Given the description of an element on the screen output the (x, y) to click on. 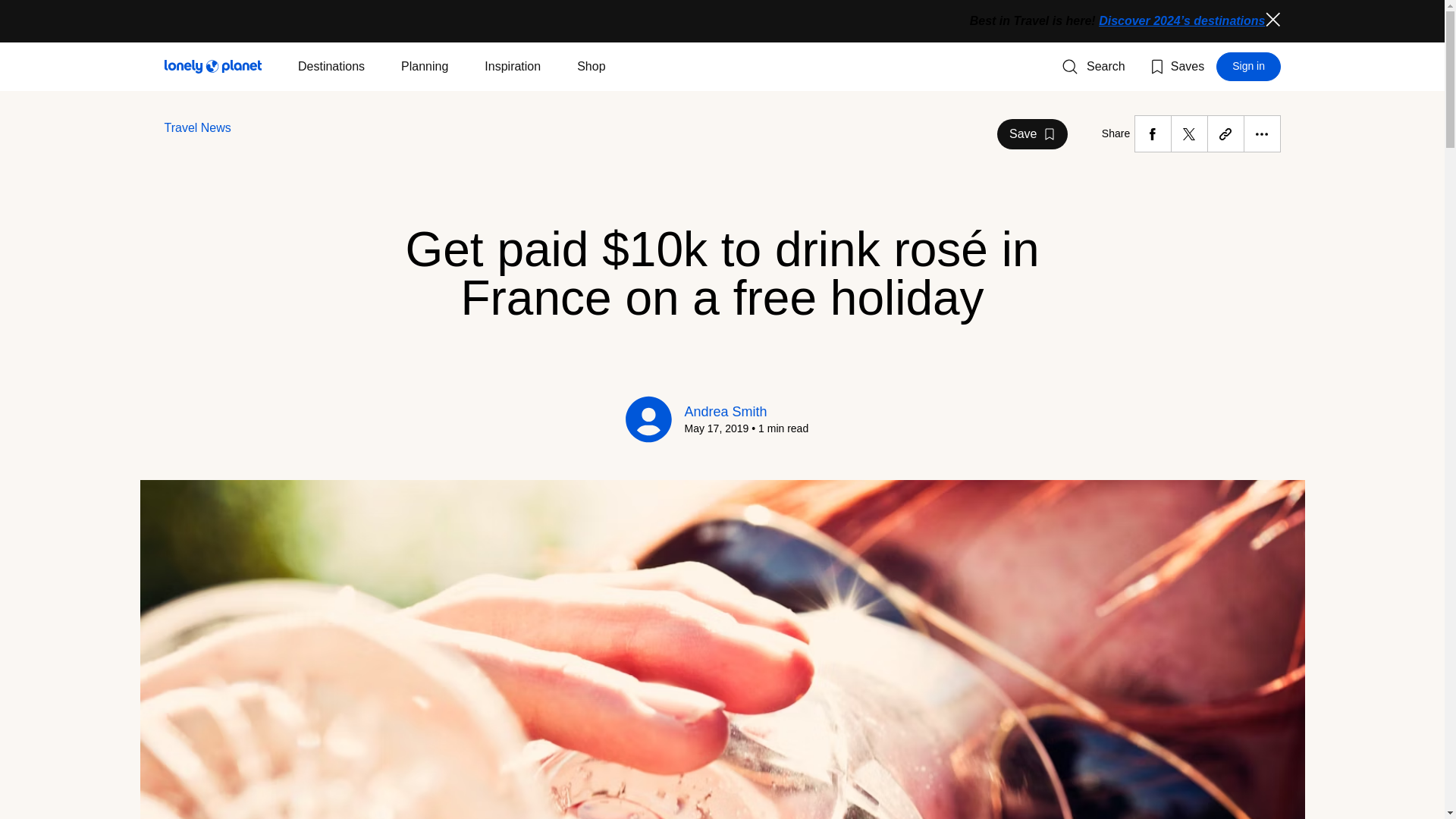
Planning (424, 66)
Saves (1176, 66)
Andrea Smith (725, 411)
Destinations (330, 66)
Lonely Planet (211, 66)
Close alert (1032, 132)
Search (1272, 19)
Travel News (1248, 66)
